Given the description of an element on the screen output the (x, y) to click on. 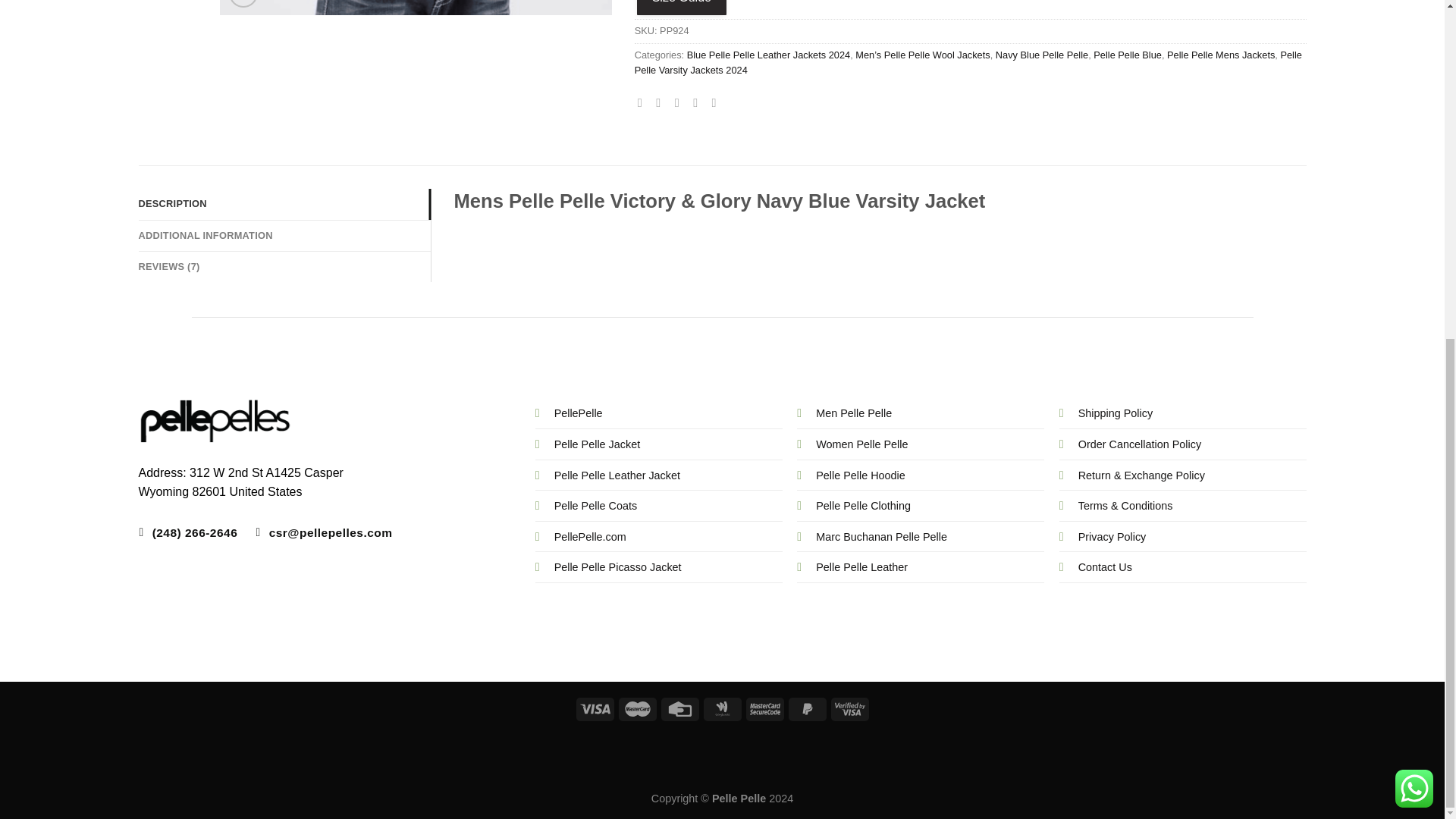
Share on Facebook (643, 101)
Navy Blue Pelle Pelle (1041, 54)
Blue Pelle Pelle Leather Jackets 2024 (768, 54)
Share on Twitter (662, 101)
Pelle Pelle Blue (1127, 54)
Pelle Pelle Anniversary Edition Varsity Navy Jacket (415, 7)
Pin on Pinterest (698, 101)
Zoom (243, 3)
Email to a Friend (681, 101)
Share on LinkedIn (717, 101)
Pelle Pelle Mens Jackets (1221, 54)
